Given the description of an element on the screen output the (x, y) to click on. 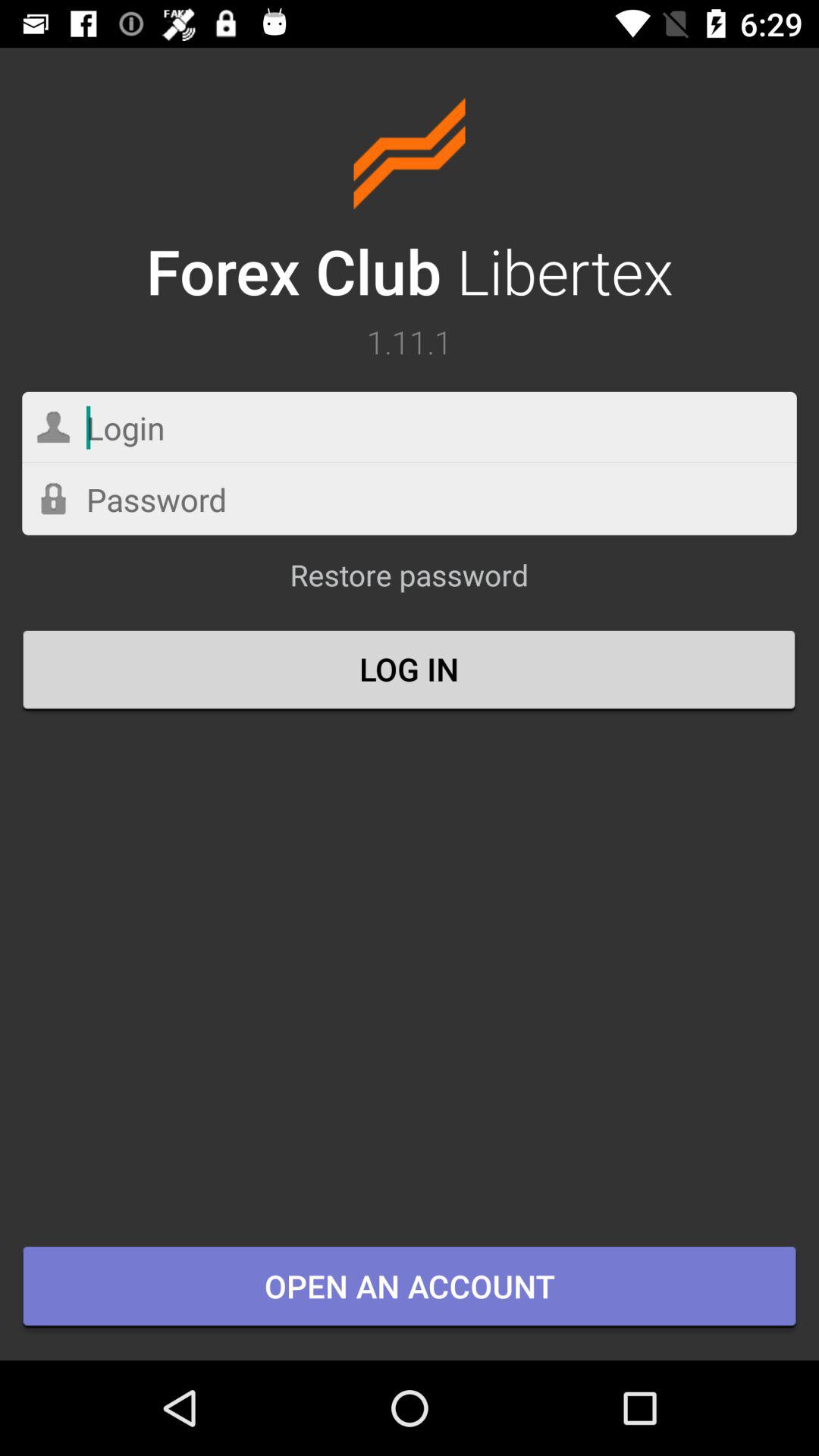
password contain (409, 499)
